Given the description of an element on the screen output the (x, y) to click on. 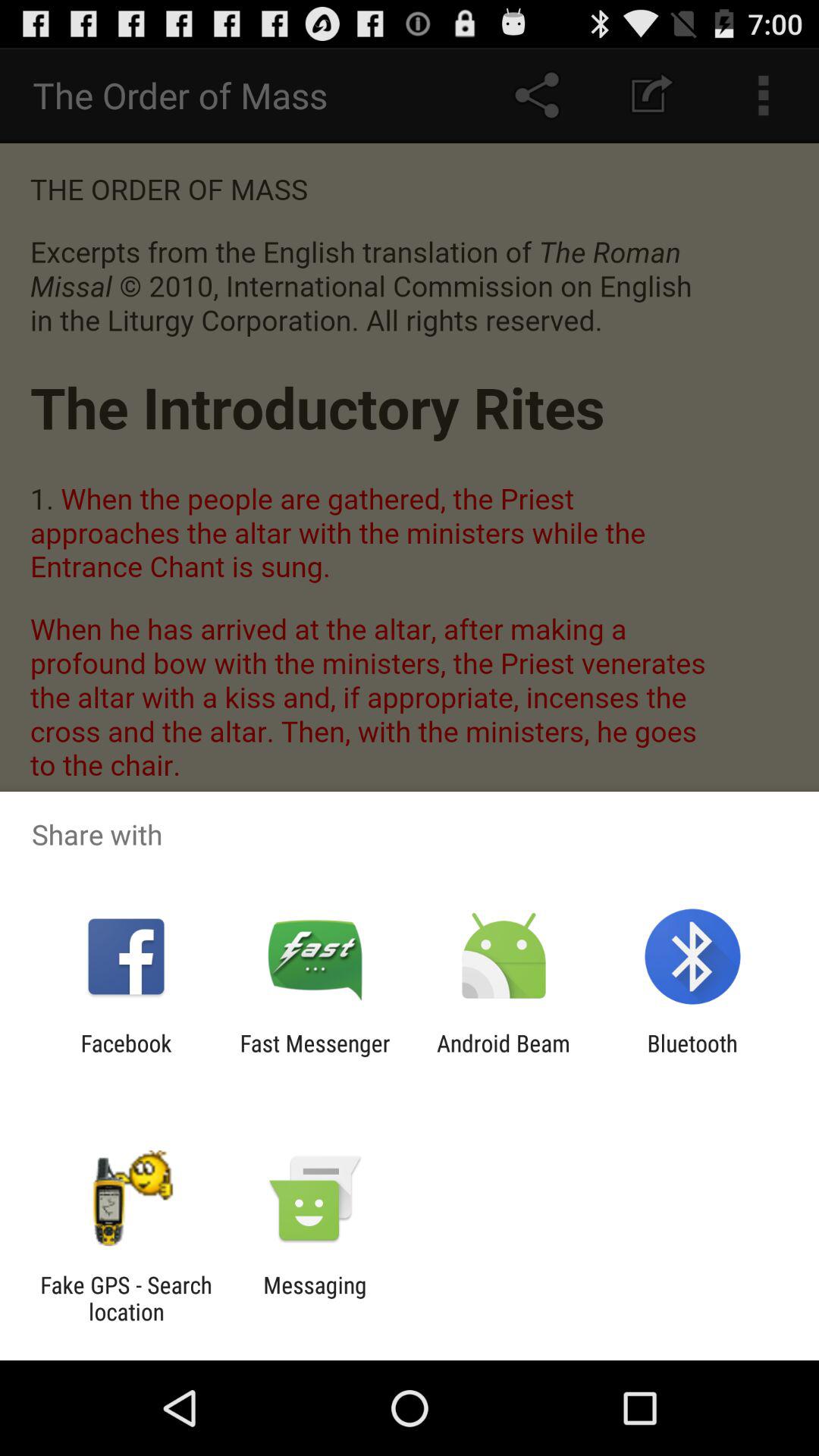
press the app next to the bluetooth app (503, 1056)
